Given the description of an element on the screen output the (x, y) to click on. 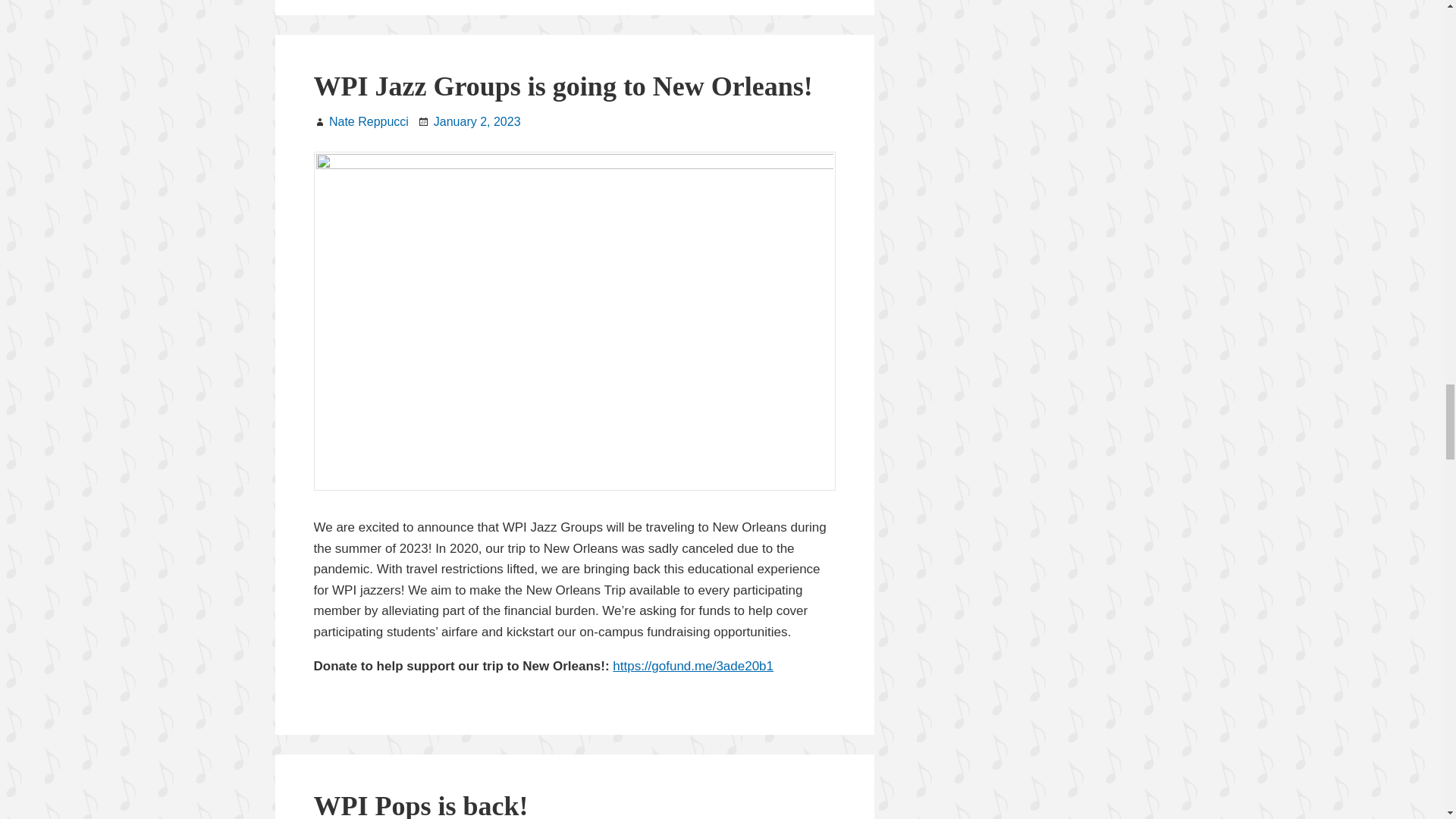
WPI Pops is back! (421, 805)
January 2, 2023 (477, 121)
Nate Reppucci (369, 121)
WPI Jazz Groups is going to New Orleans! (563, 86)
